Given the description of an element on the screen output the (x, y) to click on. 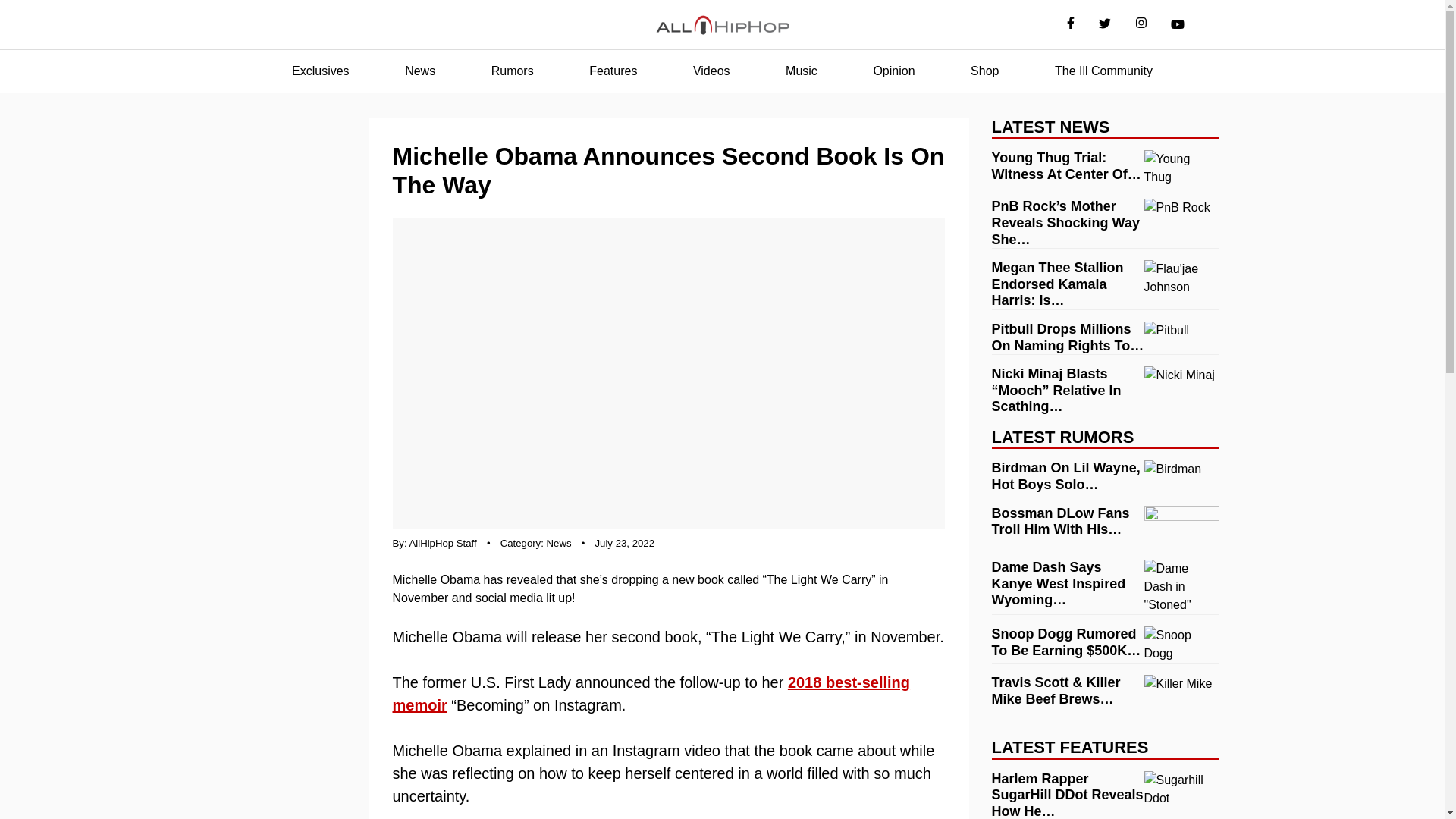
Videos (711, 70)
Opinion (893, 70)
News (559, 542)
Rumors (512, 70)
Exclusives (320, 70)
Music (801, 70)
AllHipHop Staff (443, 542)
Shop (984, 70)
AllHipHop (722, 25)
July 23, 2022 (624, 542)
